Given the description of an element on the screen output the (x, y) to click on. 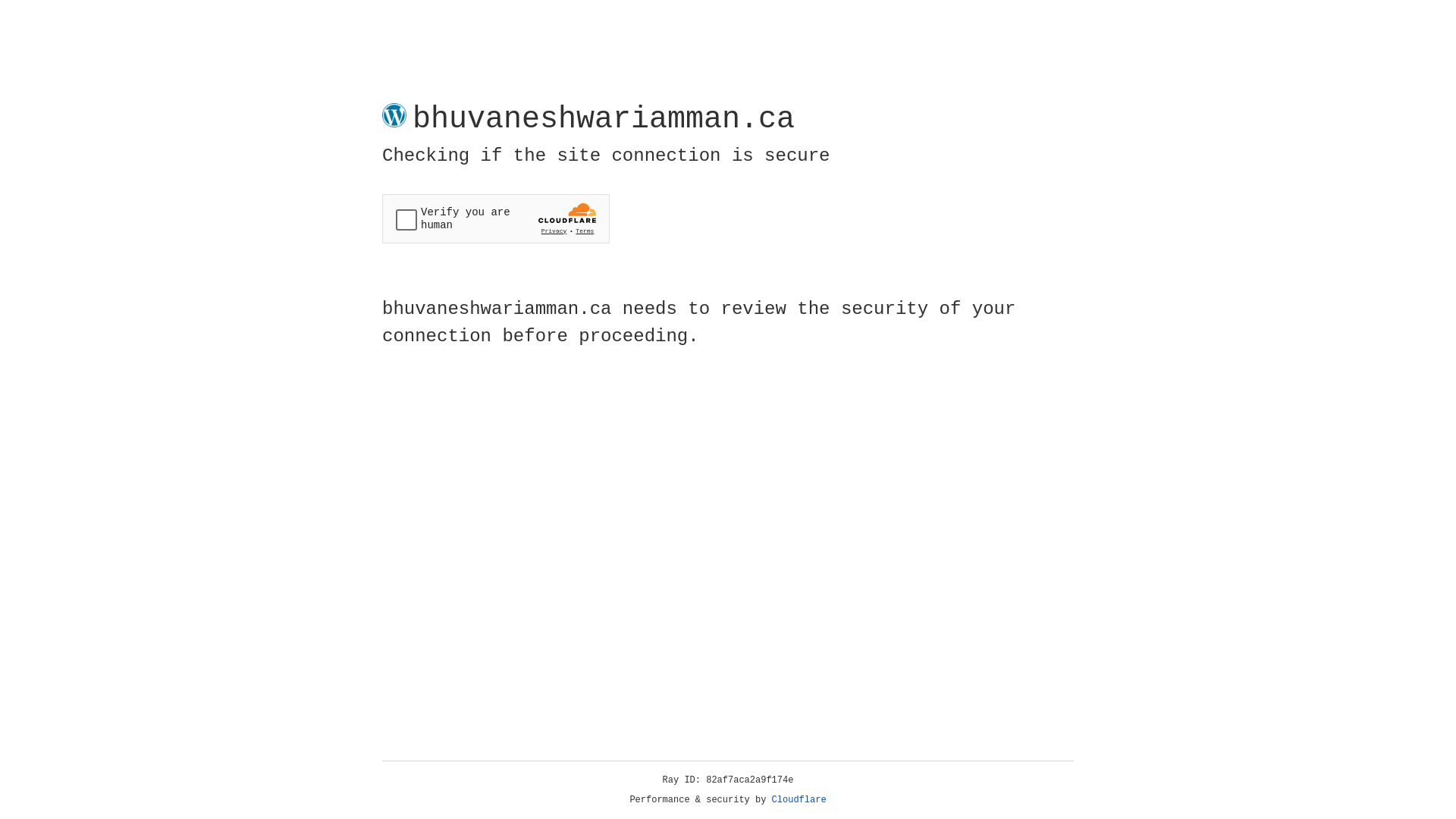
Cloudflare Element type: text (798, 799)
Widget containing a Cloudflare security challenge Element type: hover (495, 218)
